Given the description of an element on the screen output the (x, y) to click on. 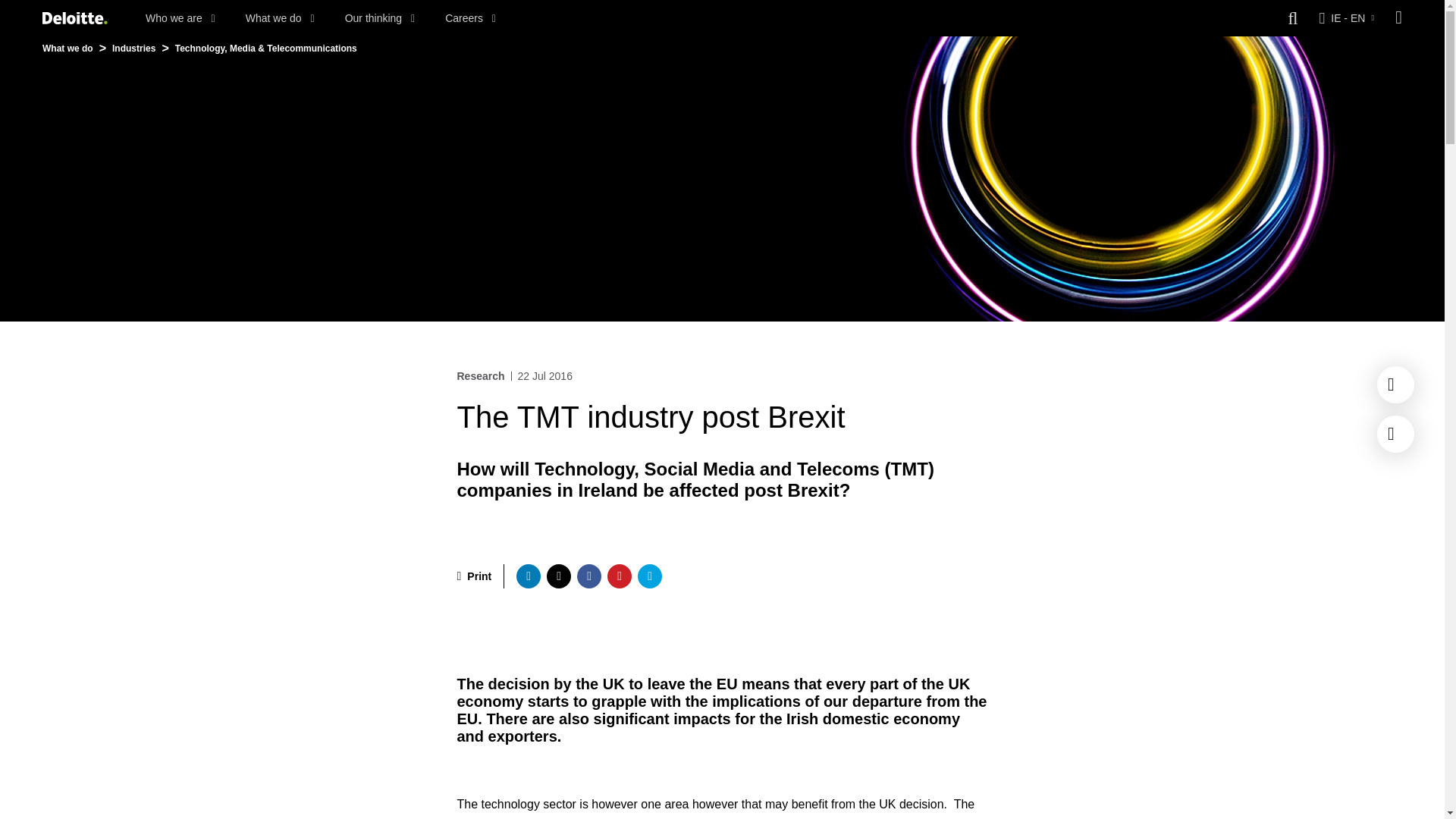
Print (474, 576)
share via... (558, 576)
share via... (528, 576)
Deloitte (74, 18)
Our thinking (379, 18)
What we do (280, 18)
share via... (588, 576)
share via... (619, 576)
share via... (649, 576)
Who we are (180, 18)
